Given the description of an element on the screen output the (x, y) to click on. 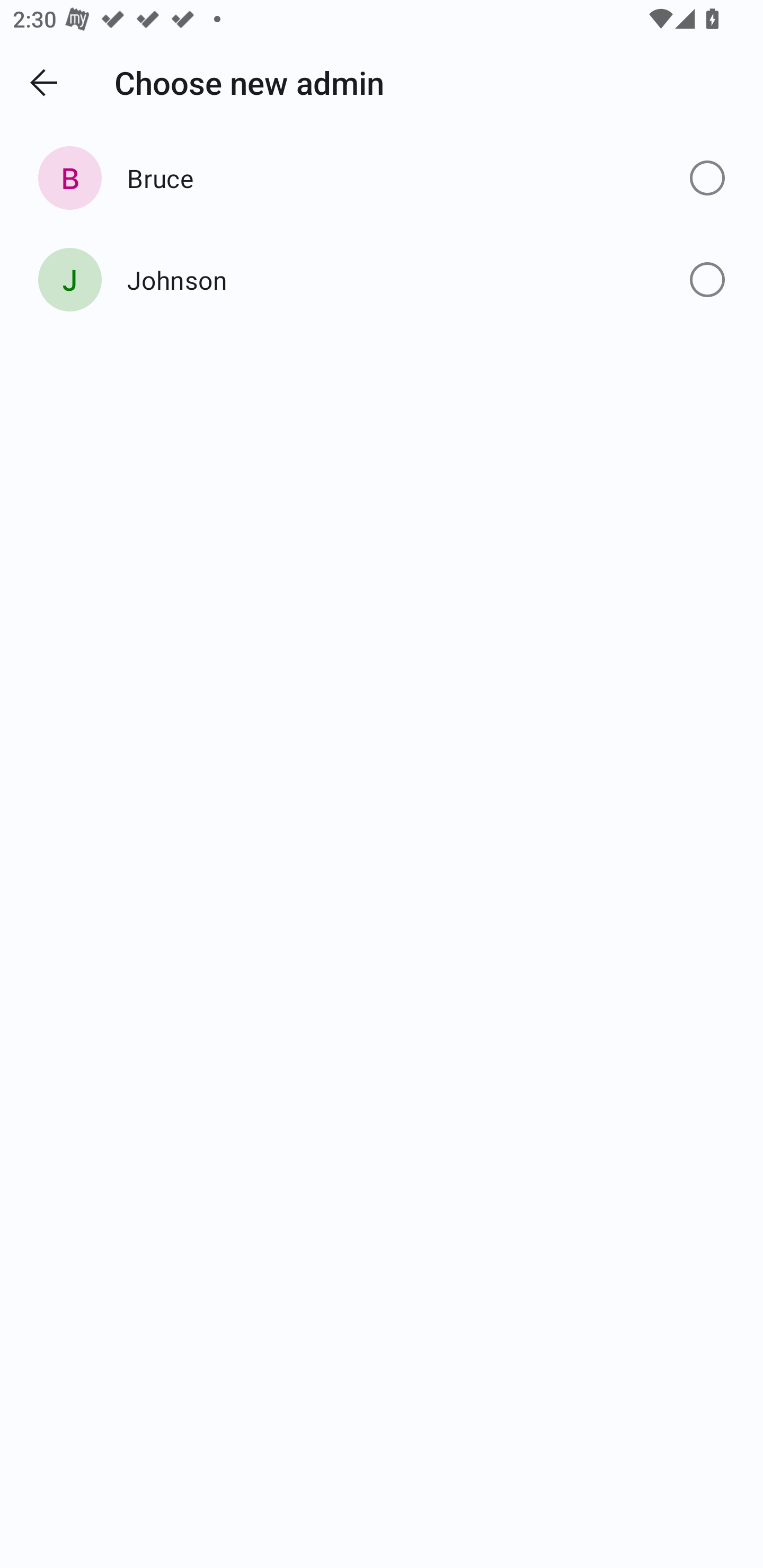
Bruce (381, 177)
